Given the description of an element on the screen output the (x, y) to click on. 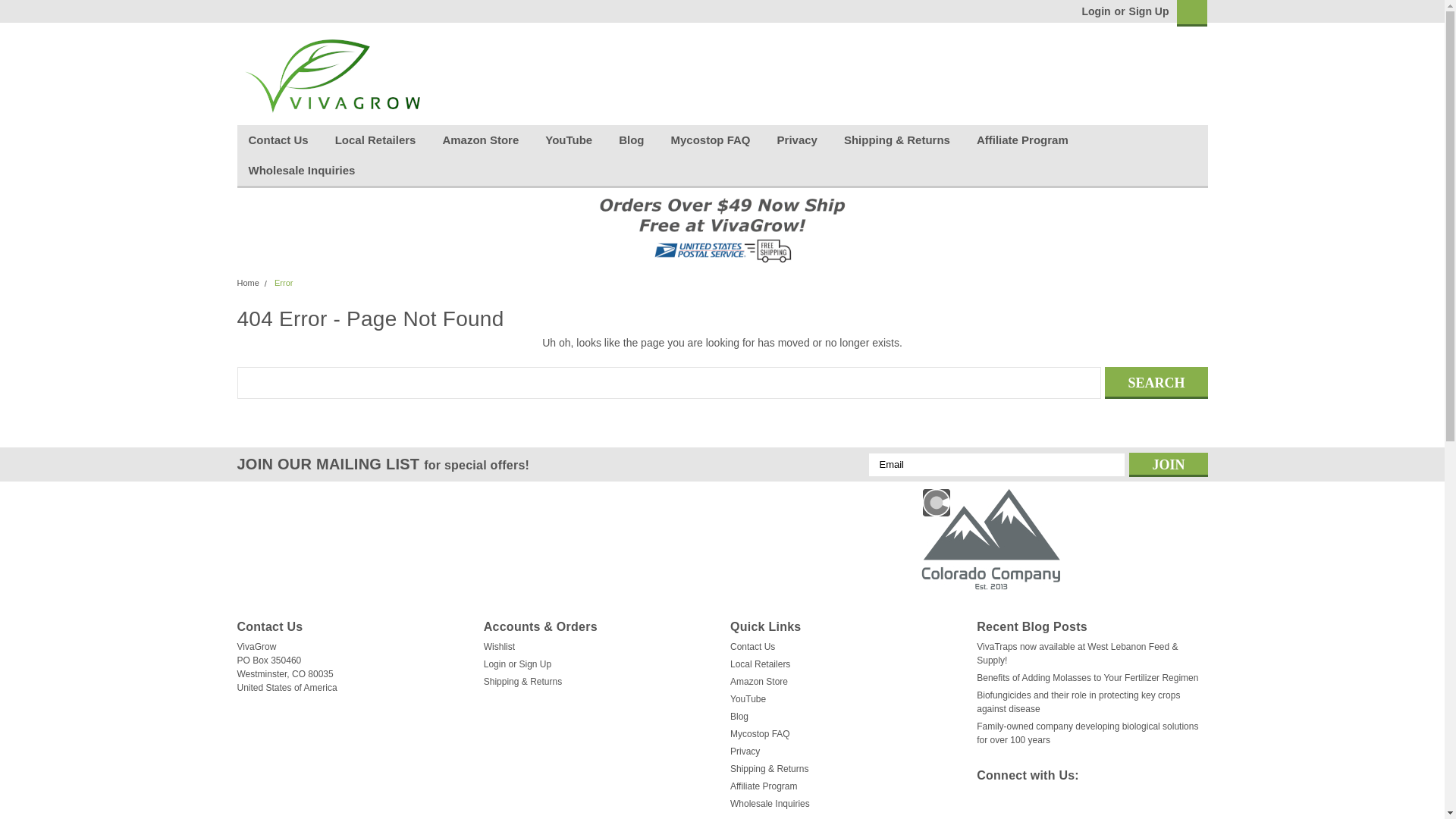
Search (1156, 382)
Sign Up (1147, 11)
Join (1168, 463)
Login (1095, 11)
VivaGrow (330, 75)
